Given the description of an element on the screen output the (x, y) to click on. 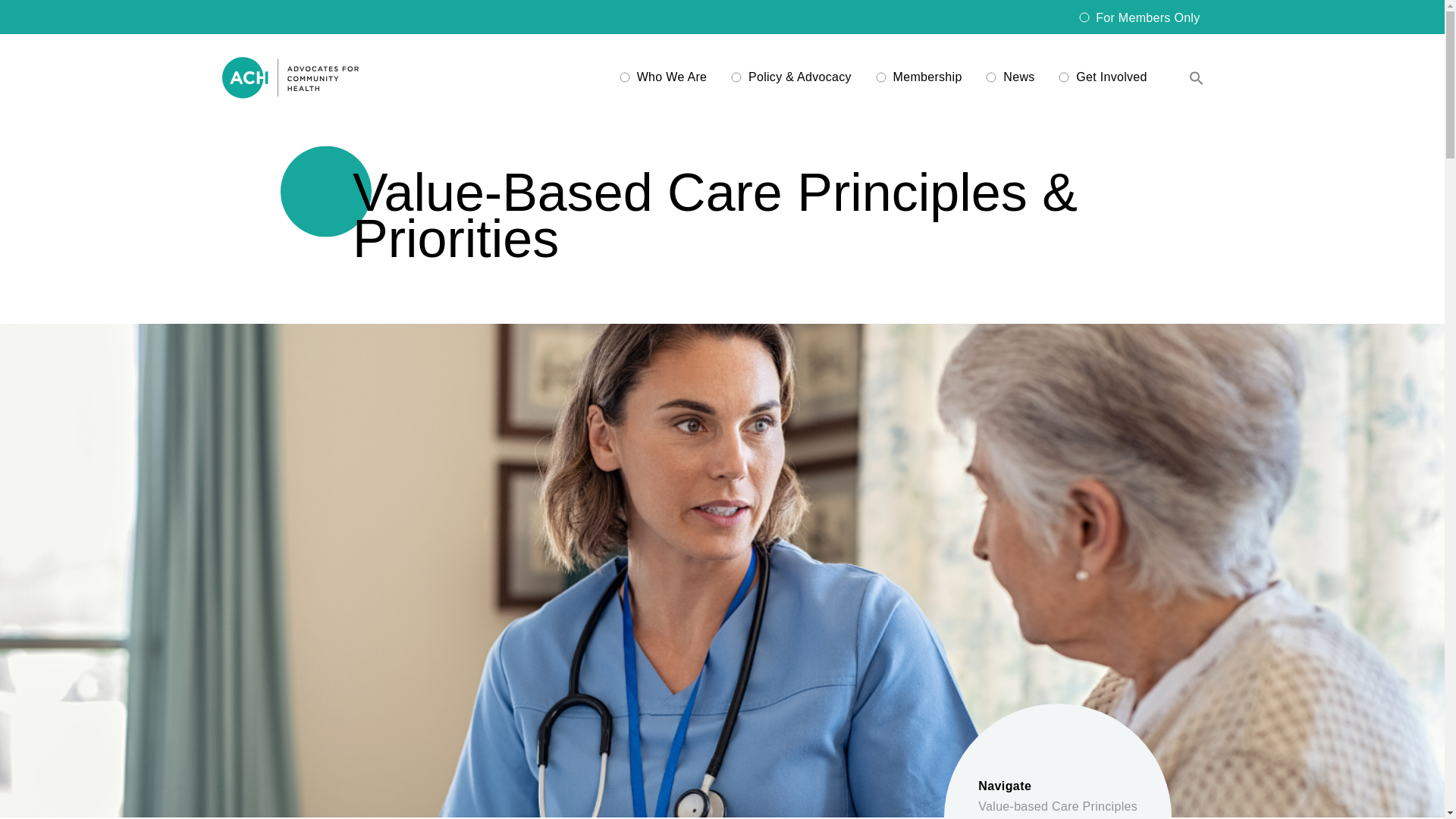
For Members Only (1147, 16)
Membership (928, 77)
Get Involved (1111, 77)
News (1018, 77)
Who We Are (671, 77)
Advocates for Community Health, (289, 77)
